Given the description of an element on the screen output the (x, y) to click on. 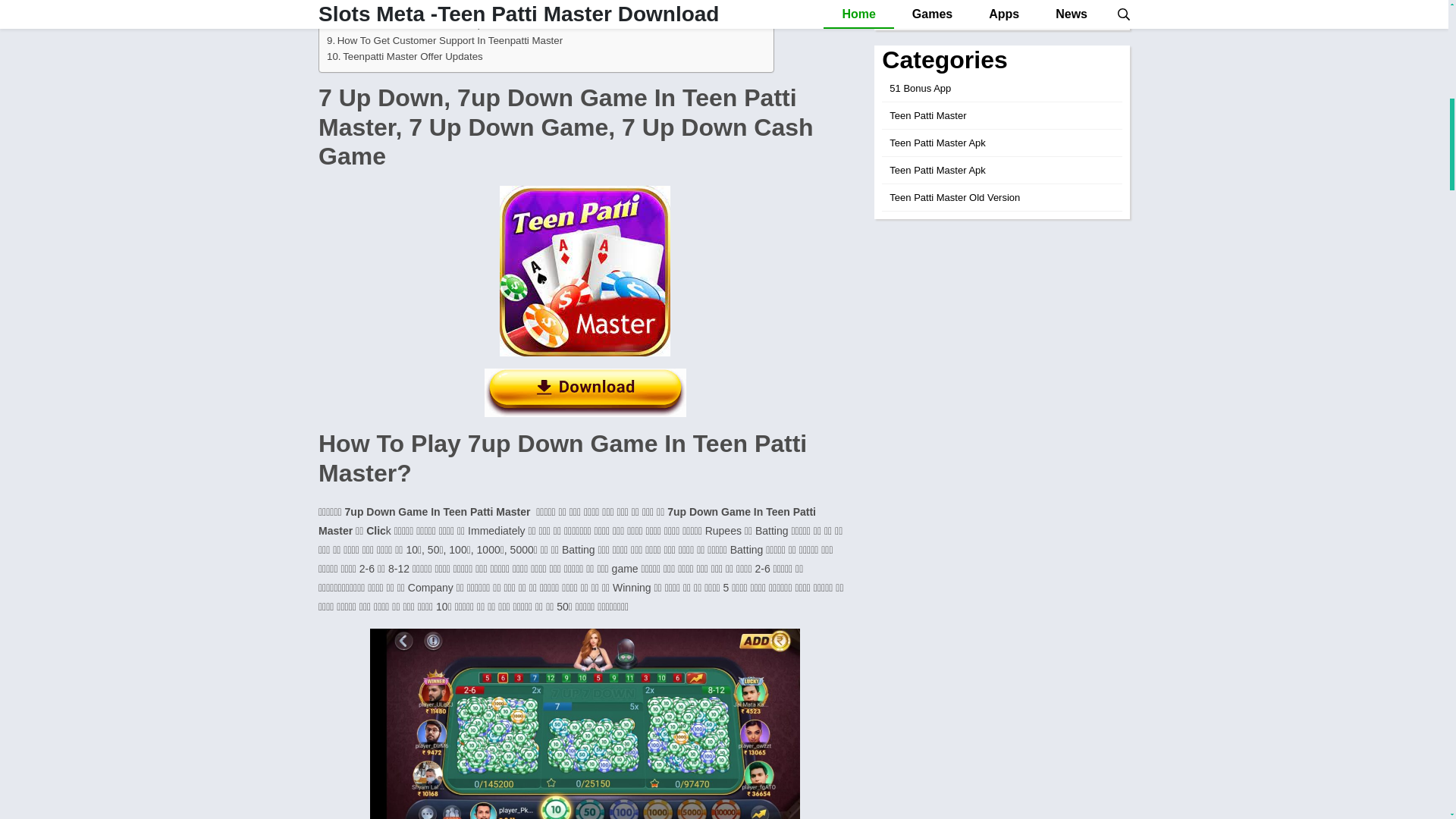
How To Withdraw Cash In Teenpatti Master? (430, 23)
How To Get Customer Support In Teenpatti Master (444, 40)
Which Game is Available in Teenpatti Master (430, 7)
How To Get Customer Support In Teenpatti Master (444, 40)
Teenpatti Master Offer Updates (404, 56)
Which Game is Available in Teenpatti Master (430, 7)
How To Withdraw Cash In Teenpatti Master? (430, 23)
Teenpatti Master Offer Updates (404, 56)
